Given the description of an element on the screen output the (x, y) to click on. 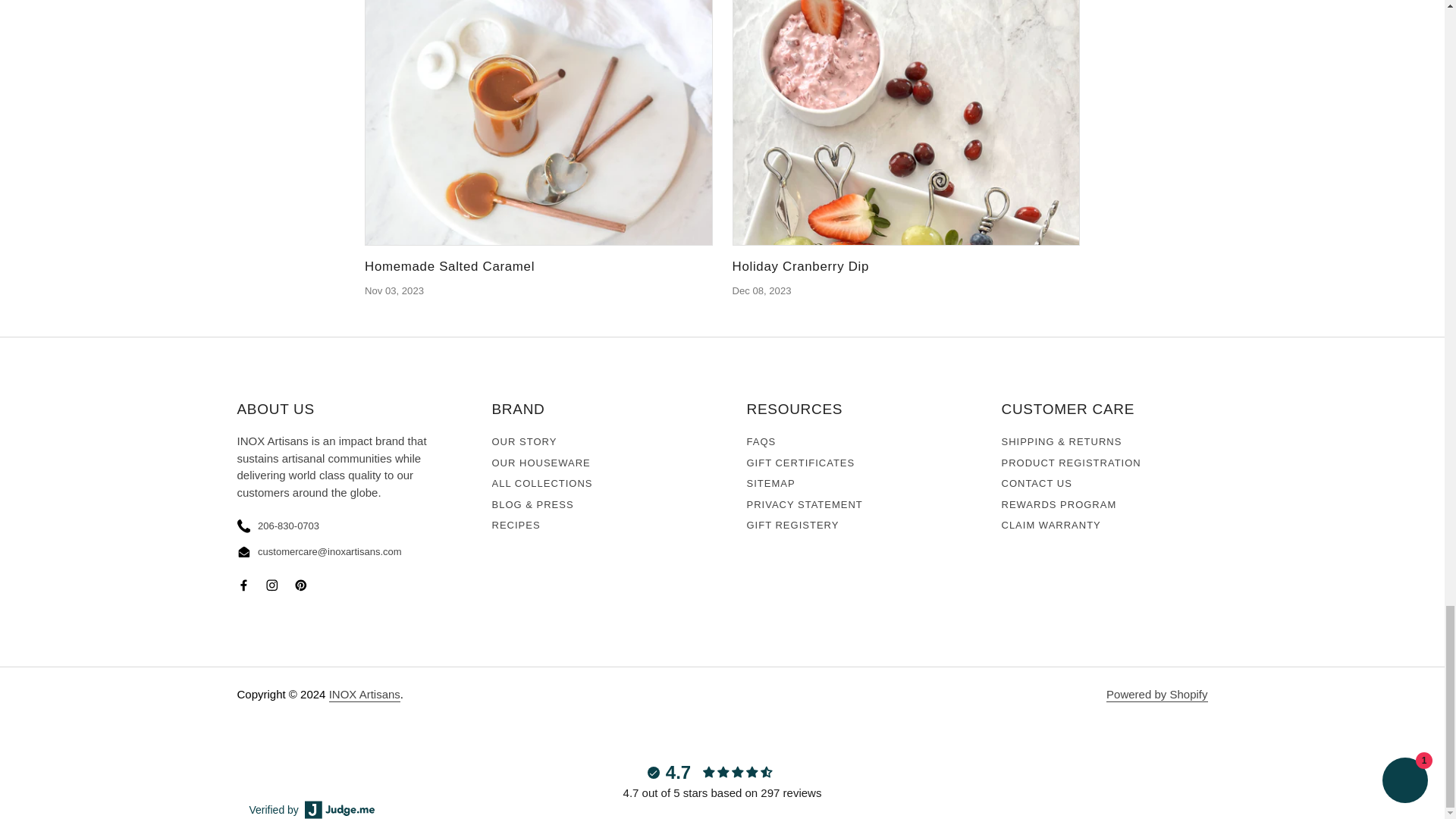
Homemade Salted Caramel (539, 122)
Holiday Cranberry Dip (906, 122)
Holiday Cranberry Dip (800, 266)
Homemade Salted Caramel (449, 266)
